Given the description of an element on the screen output the (x, y) to click on. 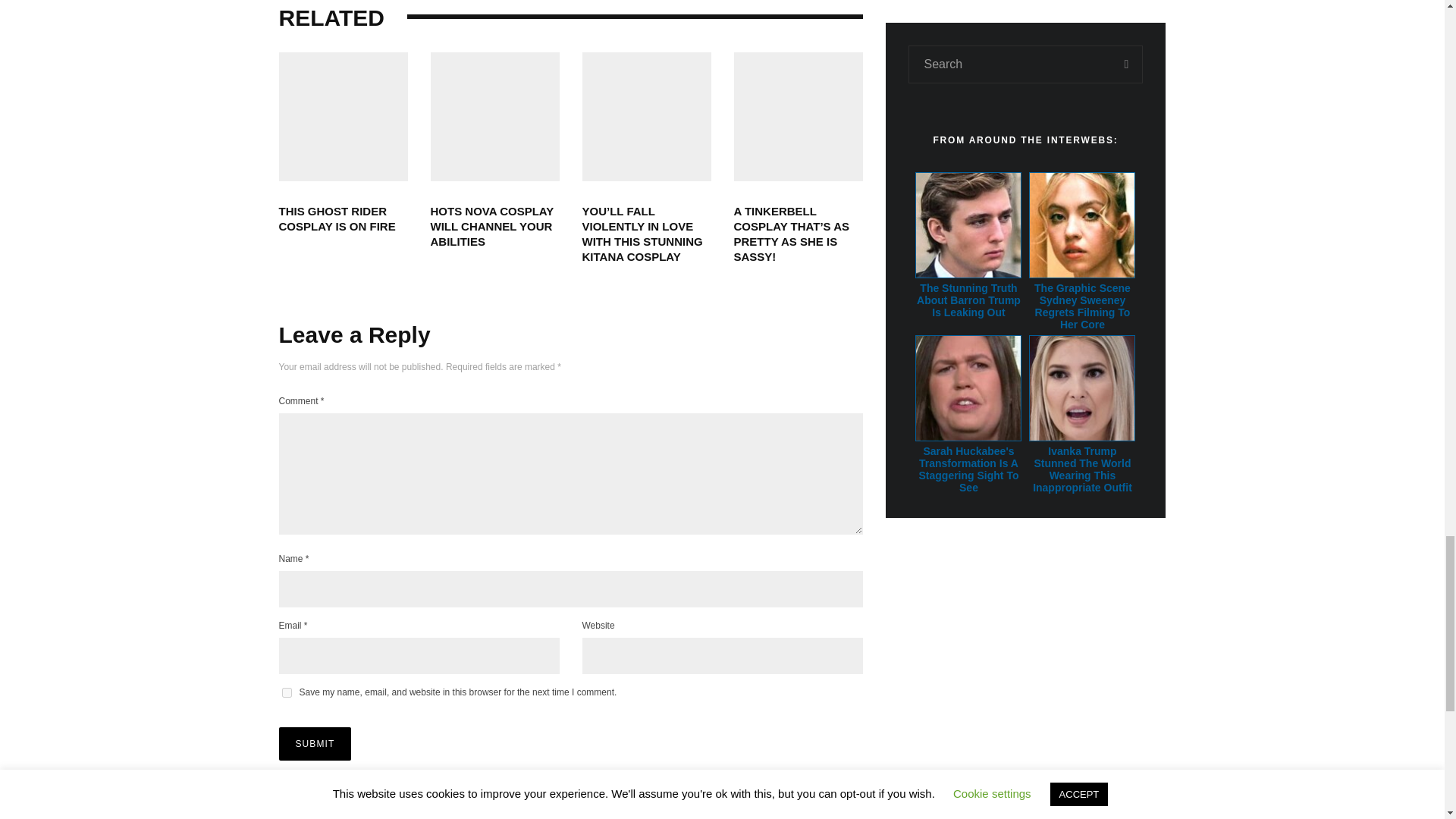
yes (287, 692)
Submit (315, 743)
